Given the description of an element on the screen output the (x, y) to click on. 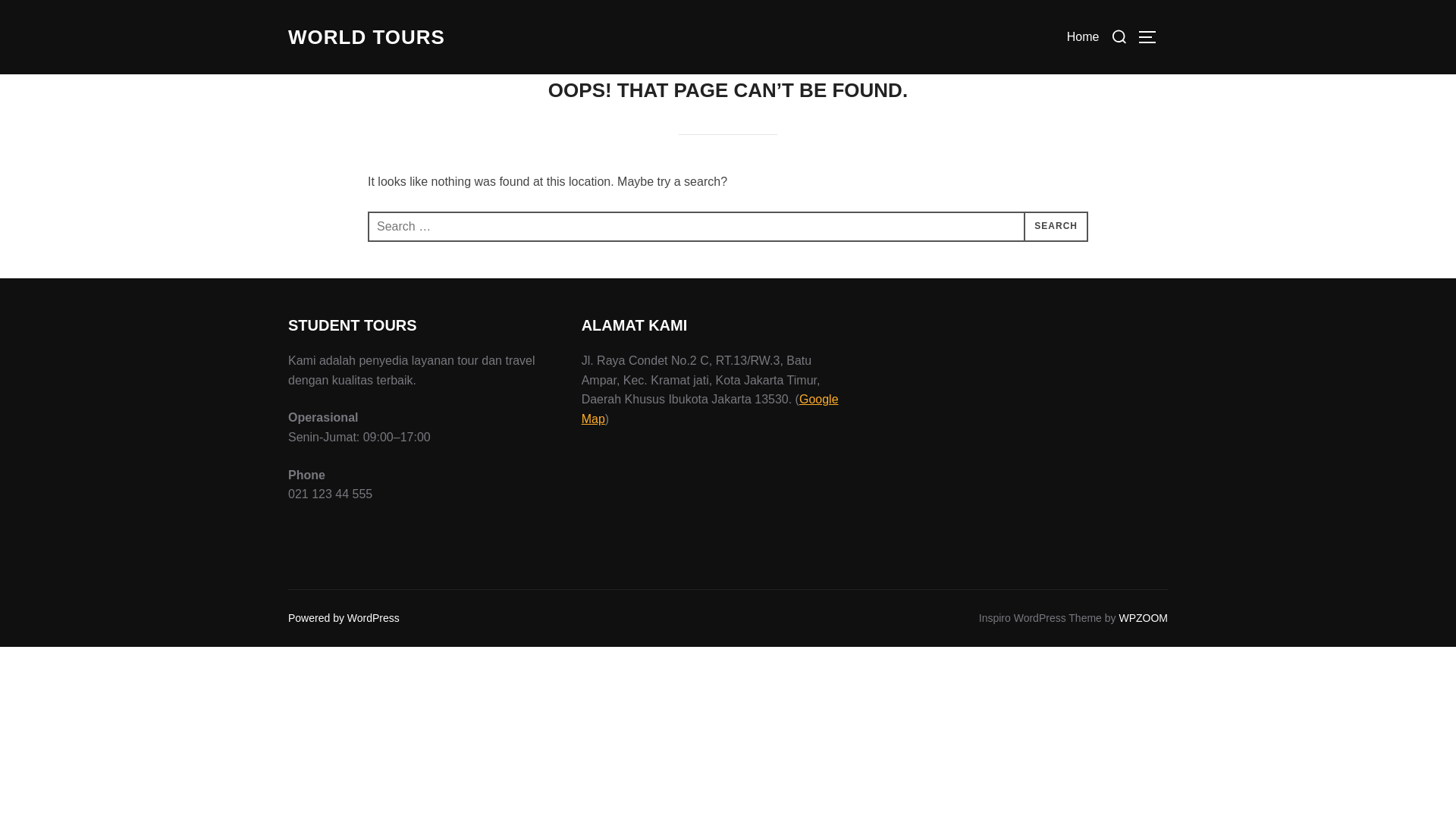
Powered by WordPress (343, 617)
Google Map (709, 409)
Home (1083, 36)
WORLD TOURS (366, 37)
SEARCH (1055, 226)
WPZOOM (1142, 617)
